Given the description of an element on the screen output the (x, y) to click on. 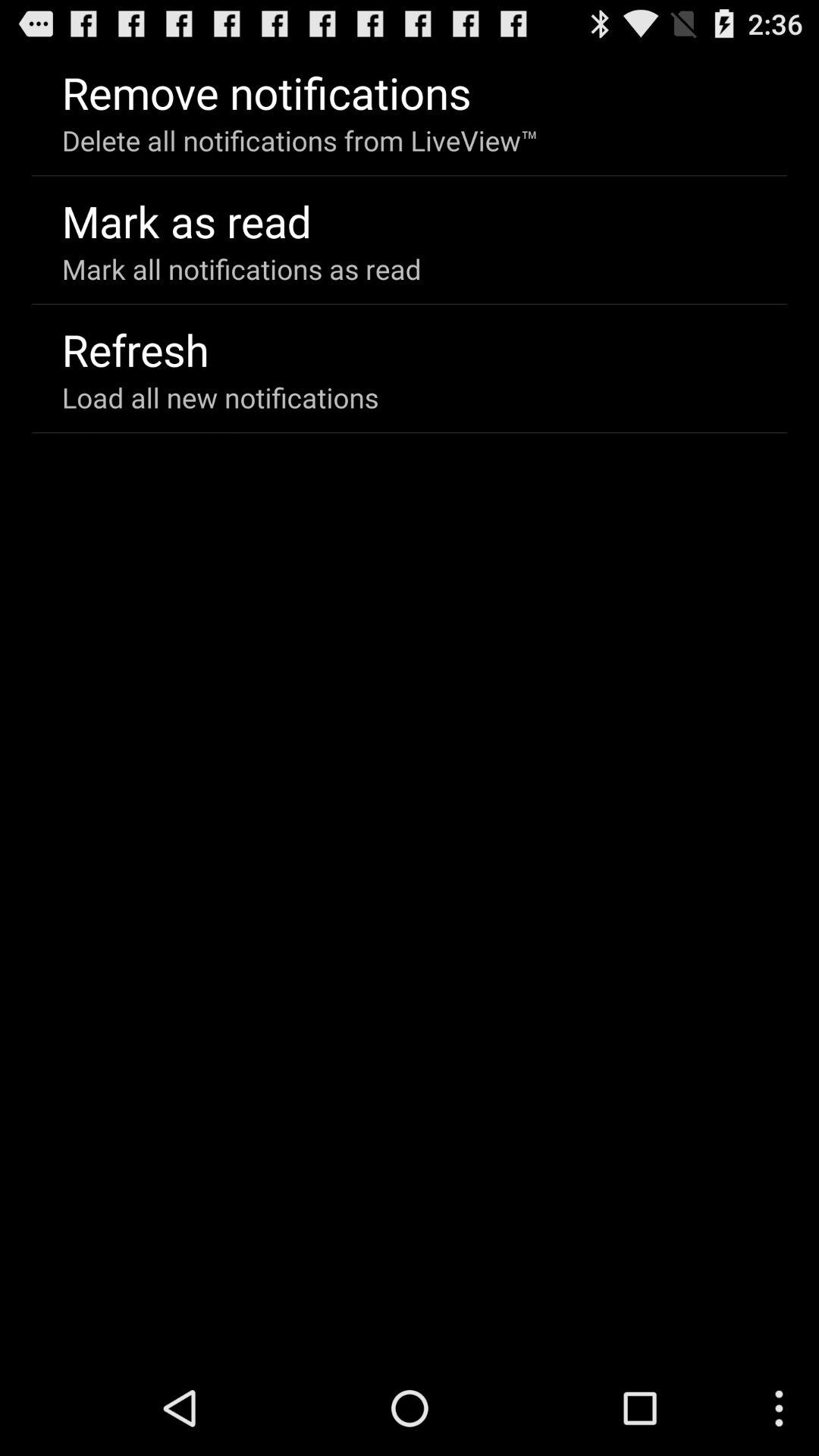
choose the remove notifications item (266, 92)
